Given the description of an element on the screen output the (x, y) to click on. 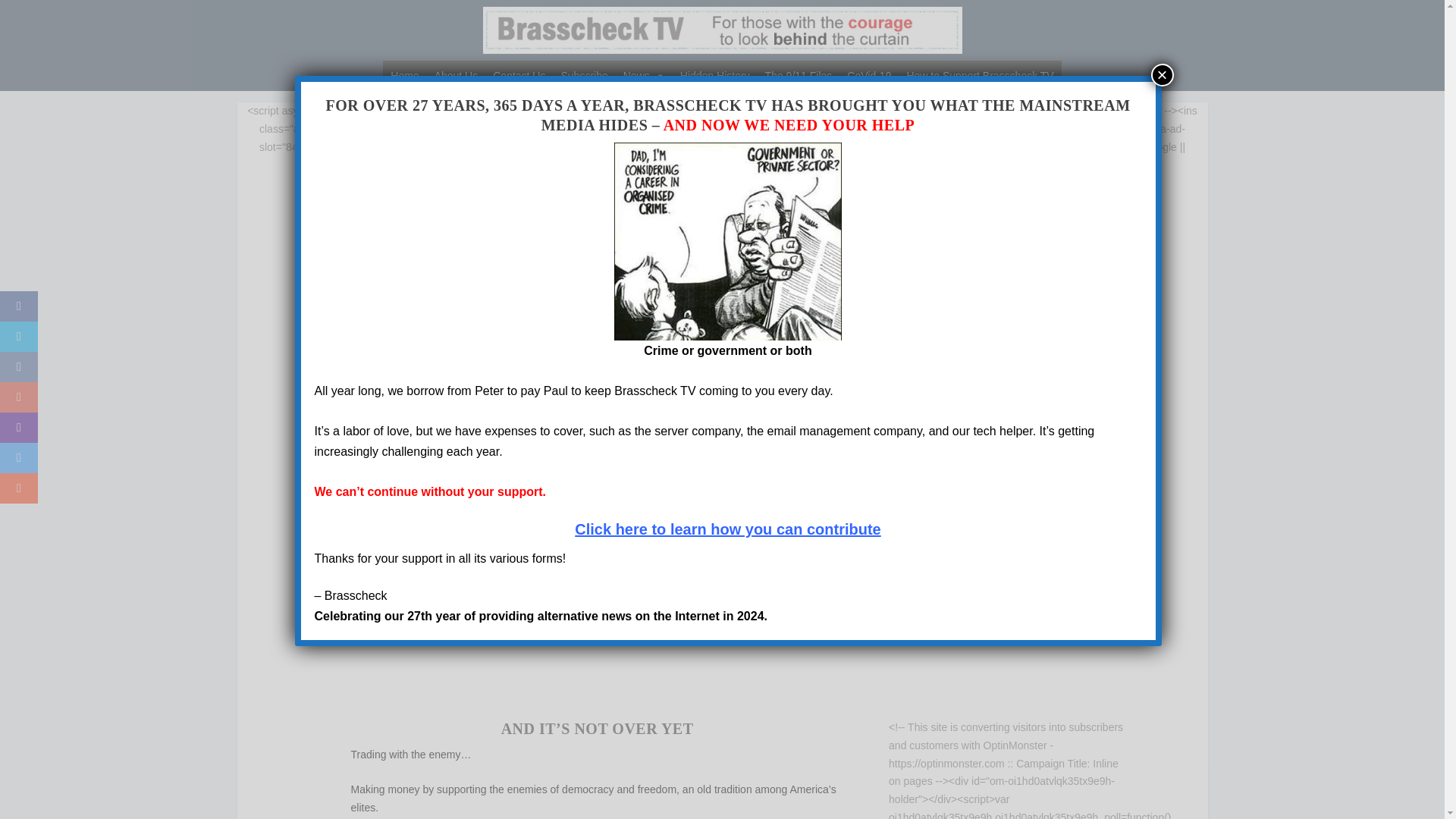
CoVid-19 (869, 75)
Hidden History (714, 75)
Home (404, 75)
Contact Us (518, 75)
About Us (456, 75)
Subscribe (583, 75)
How to Support Brasscheck TV (979, 75)
News (643, 75)
